Given the description of an element on the screen output the (x, y) to click on. 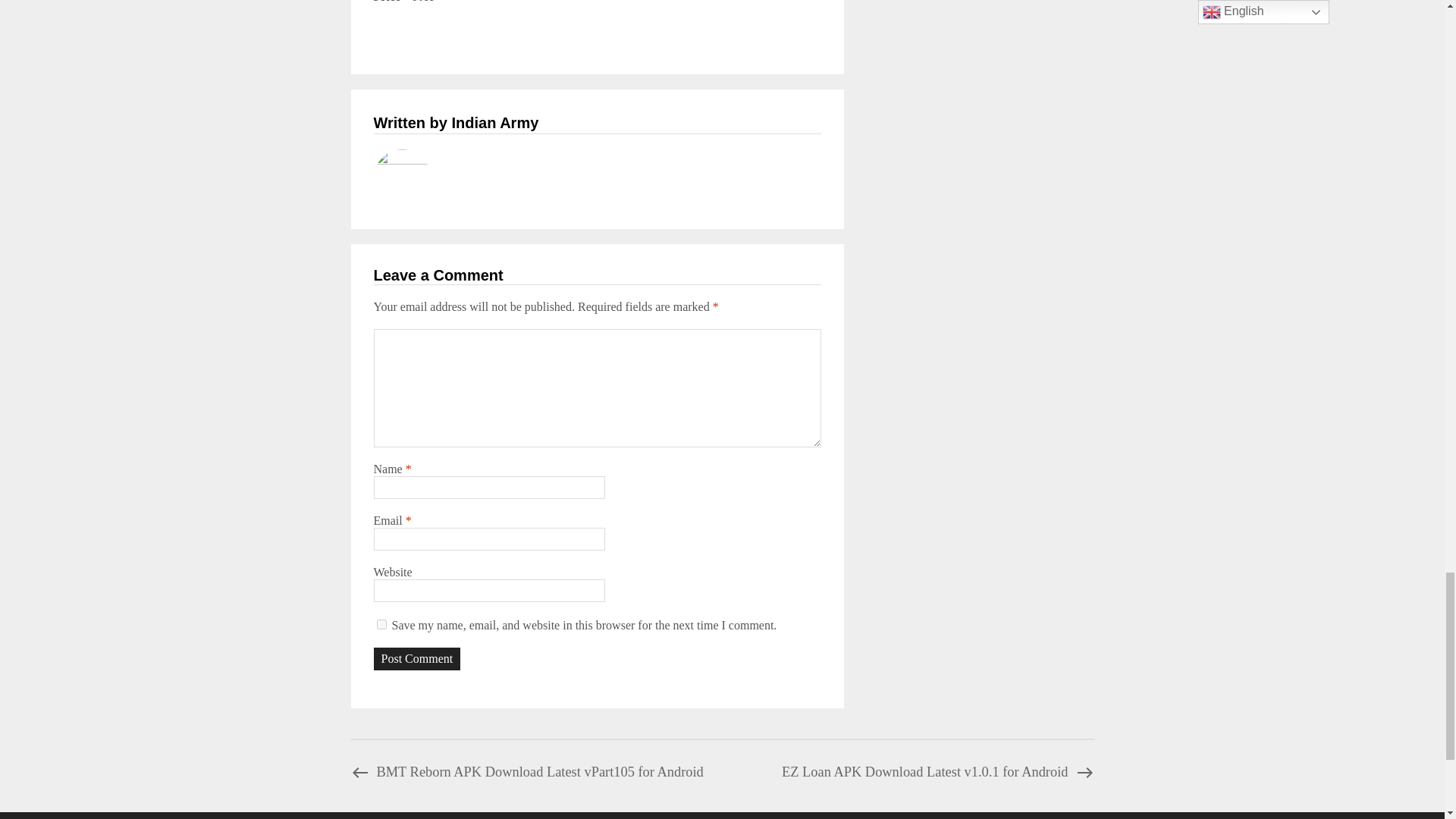
yes (380, 624)
EZ Loan APK Download Latest v1.0.1 for Android (937, 772)
Post Comment (416, 658)
Post Comment (416, 658)
BMT Reborn APK Download Latest vPart105 for Android (526, 772)
